Given the description of an element on the screen output the (x, y) to click on. 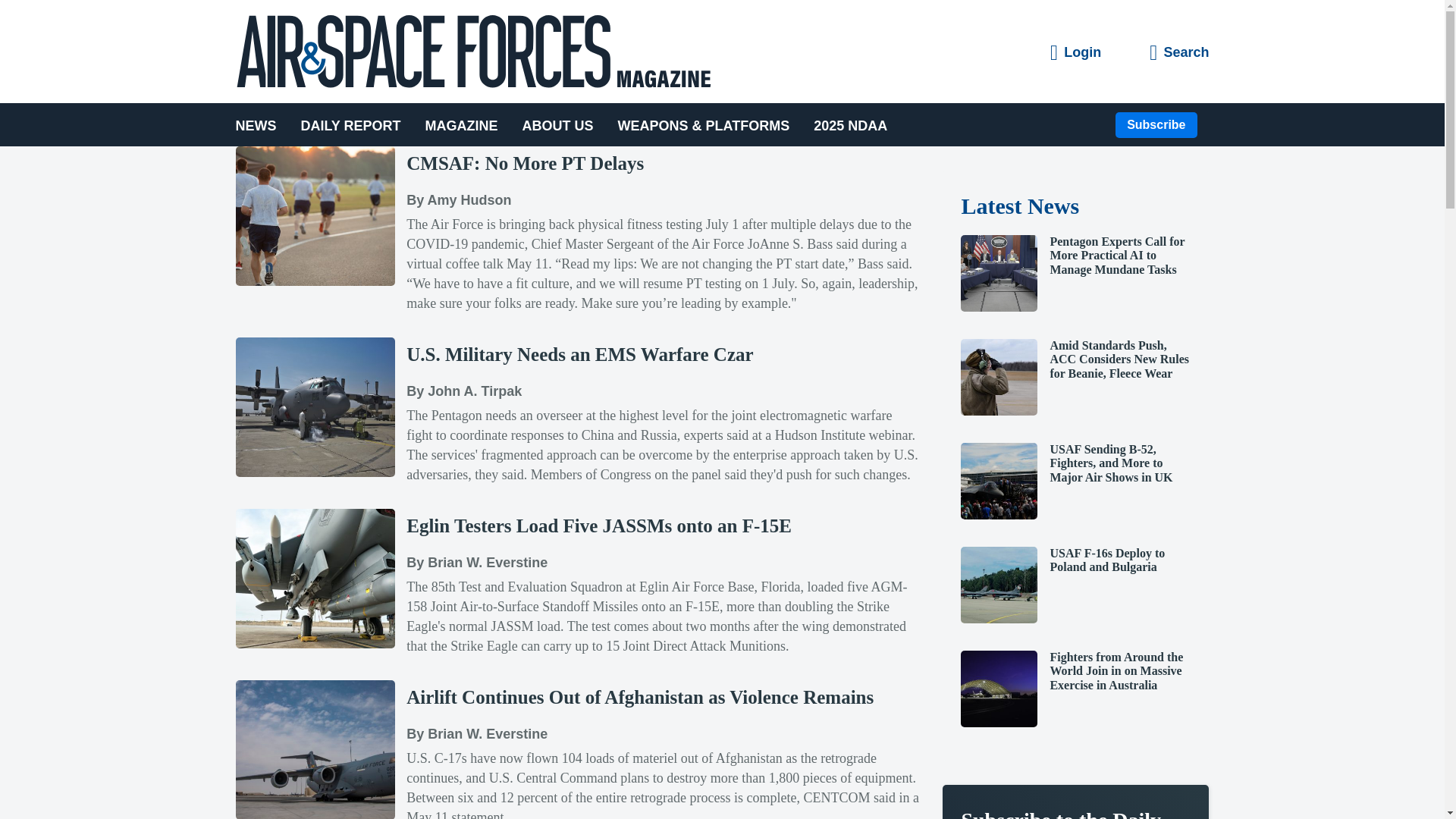
Login (1074, 52)
NEWS (261, 124)
Search (1179, 52)
USAF F-16s Deploy to Poland and Bulgaria (998, 618)
USAF F-16s Deploy to Poland and Bulgaria (1106, 560)
MAGAZINE (462, 124)
DAILY REPORT (350, 124)
ABOUT US (558, 124)
